Given the description of an element on the screen output the (x, y) to click on. 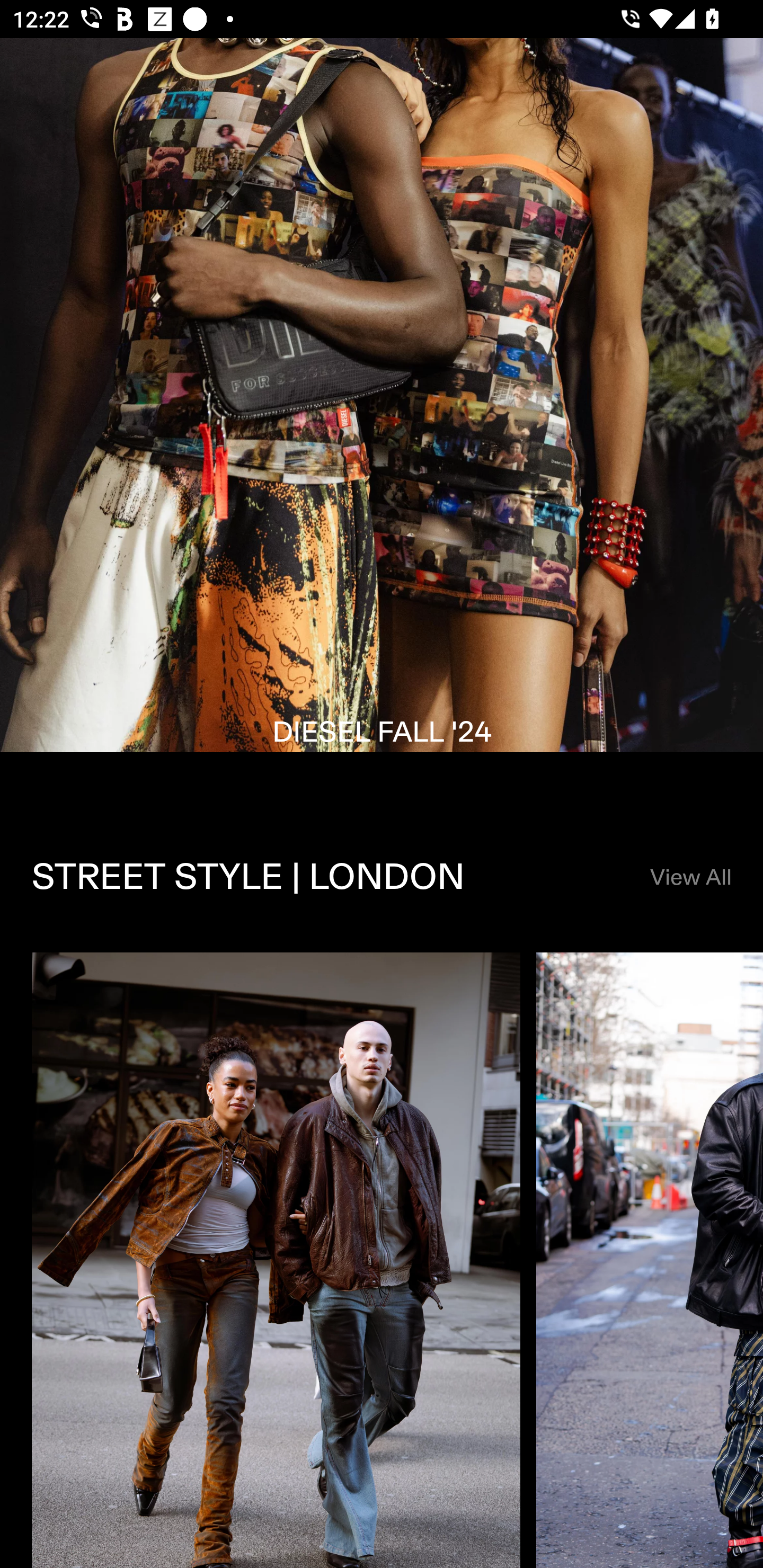
FIRST LOOKS DIESEL FALL '24 (381, 419)
View All (690, 878)
